Given the description of an element on the screen output the (x, y) to click on. 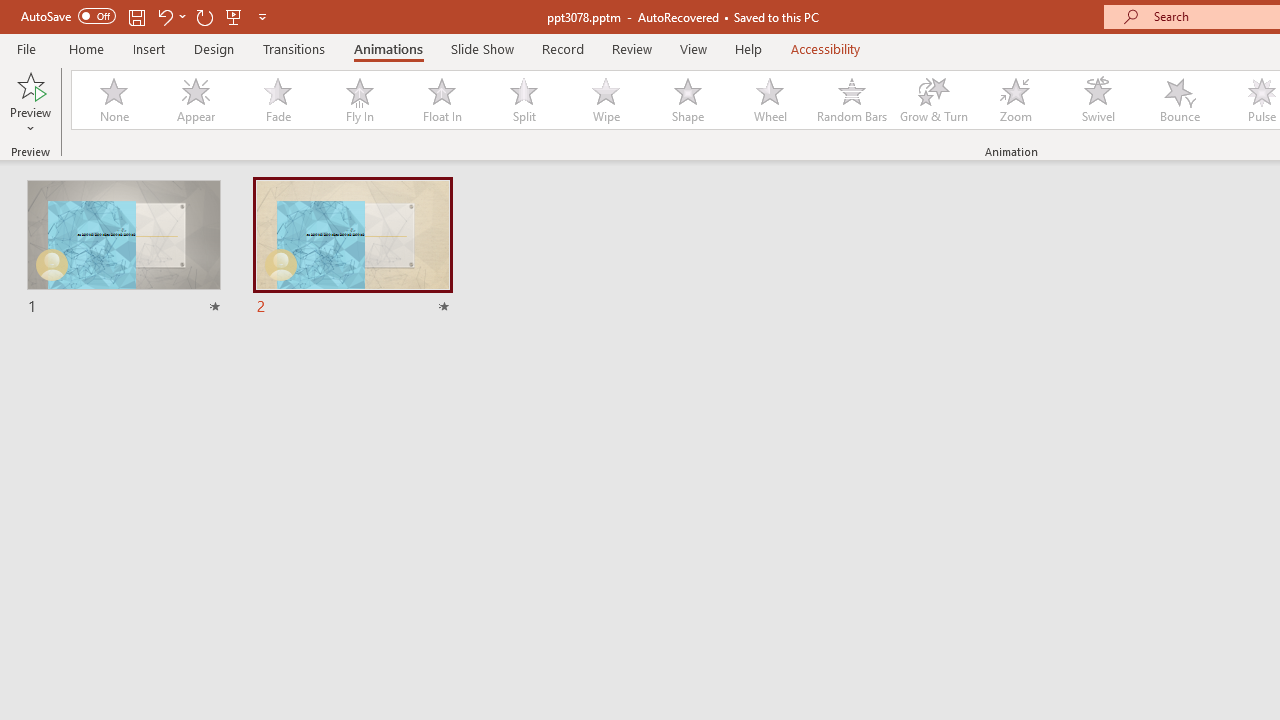
Grow & Turn (934, 100)
Float In (441, 100)
Bounce (1180, 100)
Fly In (359, 100)
Swivel (1098, 100)
